Given the description of an element on the screen output the (x, y) to click on. 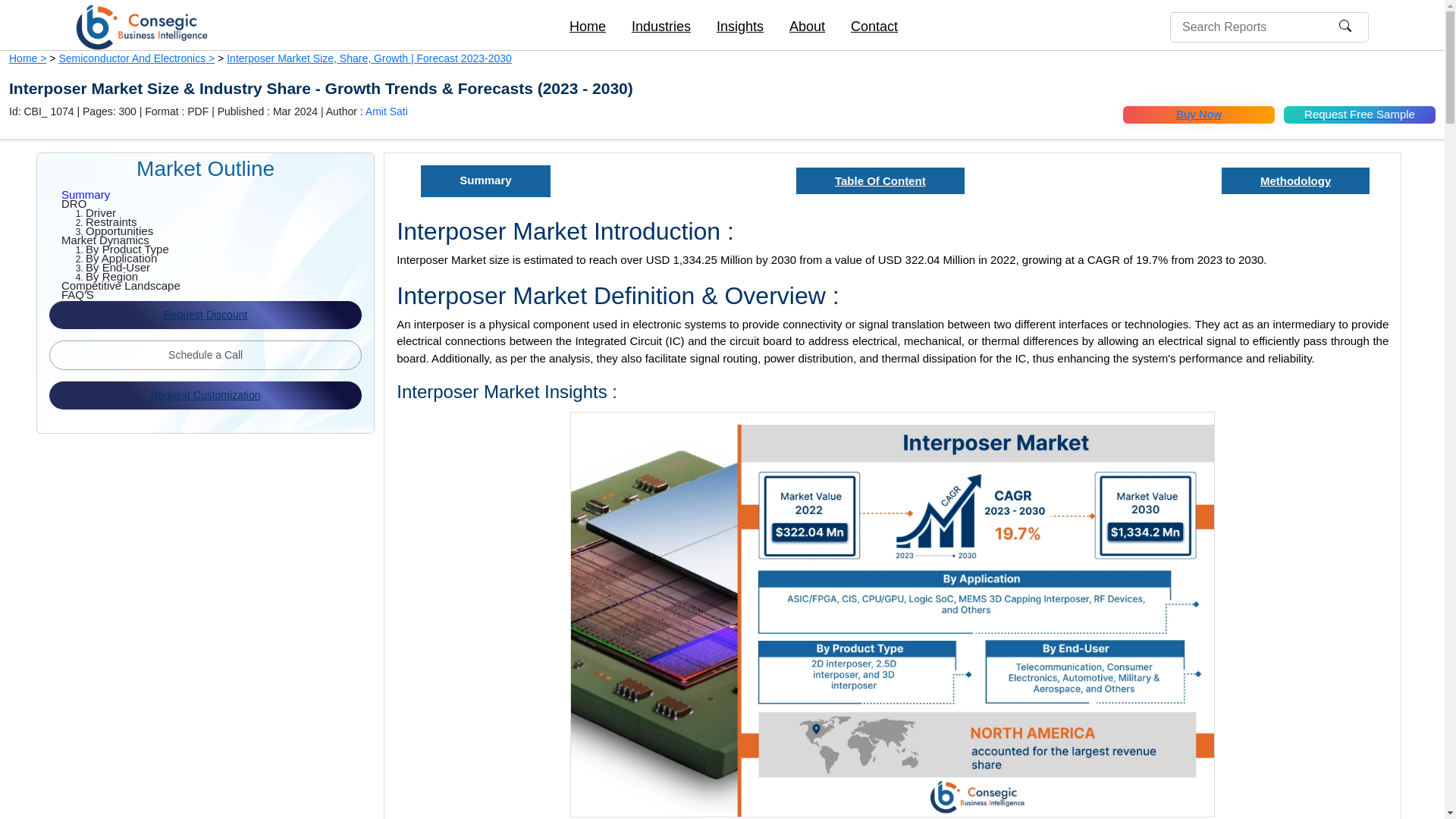
Contact (874, 26)
Summary (217, 194)
Driver (229, 212)
Industries (660, 26)
Summary (217, 194)
Insights (739, 26)
Request Free Sample (1358, 115)
About (807, 26)
By End-User (229, 266)
By Product Type (229, 248)
